Given the description of an element on the screen output the (x, y) to click on. 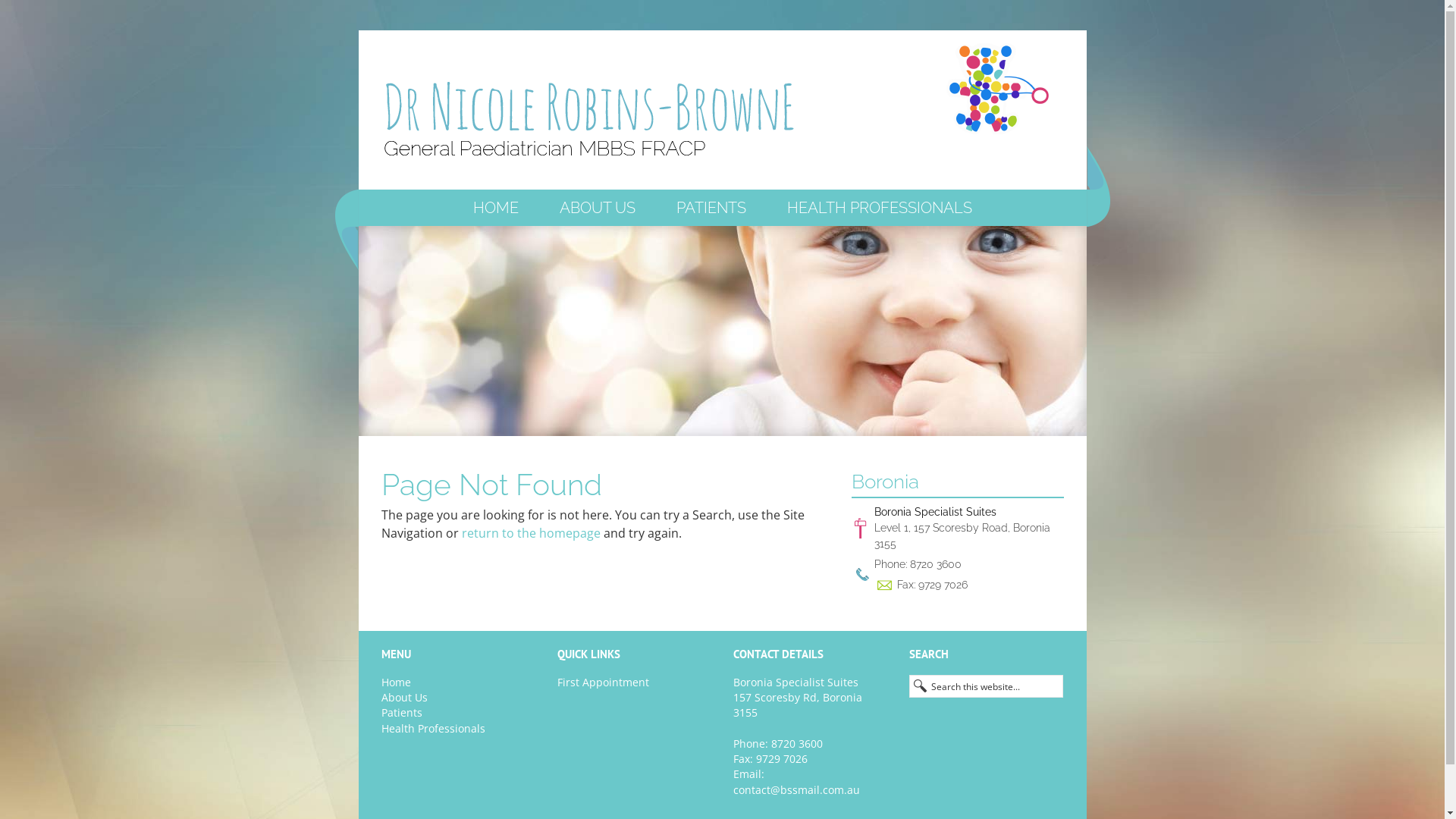
Dr Nicole Robins-Browne Element type: text (589, 109)
Patients Element type: text (400, 712)
PATIENTS Element type: text (710, 207)
Home Element type: text (395, 681)
HEALTH PROFESSIONALS Element type: text (878, 207)
return to the homepage Element type: text (530, 532)
HOME Element type: text (494, 207)
First Appointment Element type: text (602, 681)
Health Professionals Element type: text (432, 728)
About Us Element type: text (403, 697)
ABOUT US Element type: text (596, 207)
